Given the description of an element on the screen output the (x, y) to click on. 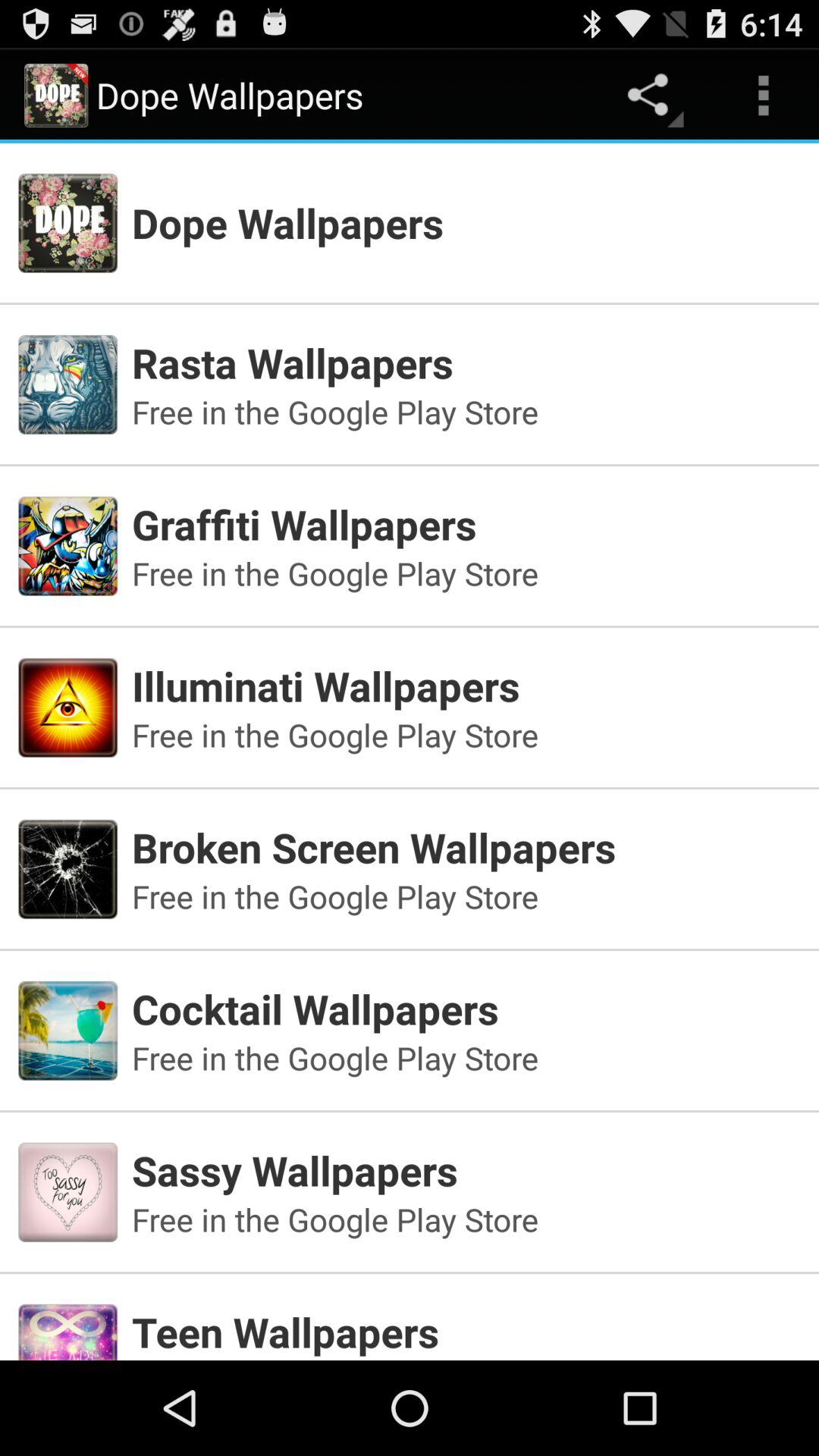
see more info about this app (409, 1310)
